Given the description of an element on the screen output the (x, y) to click on. 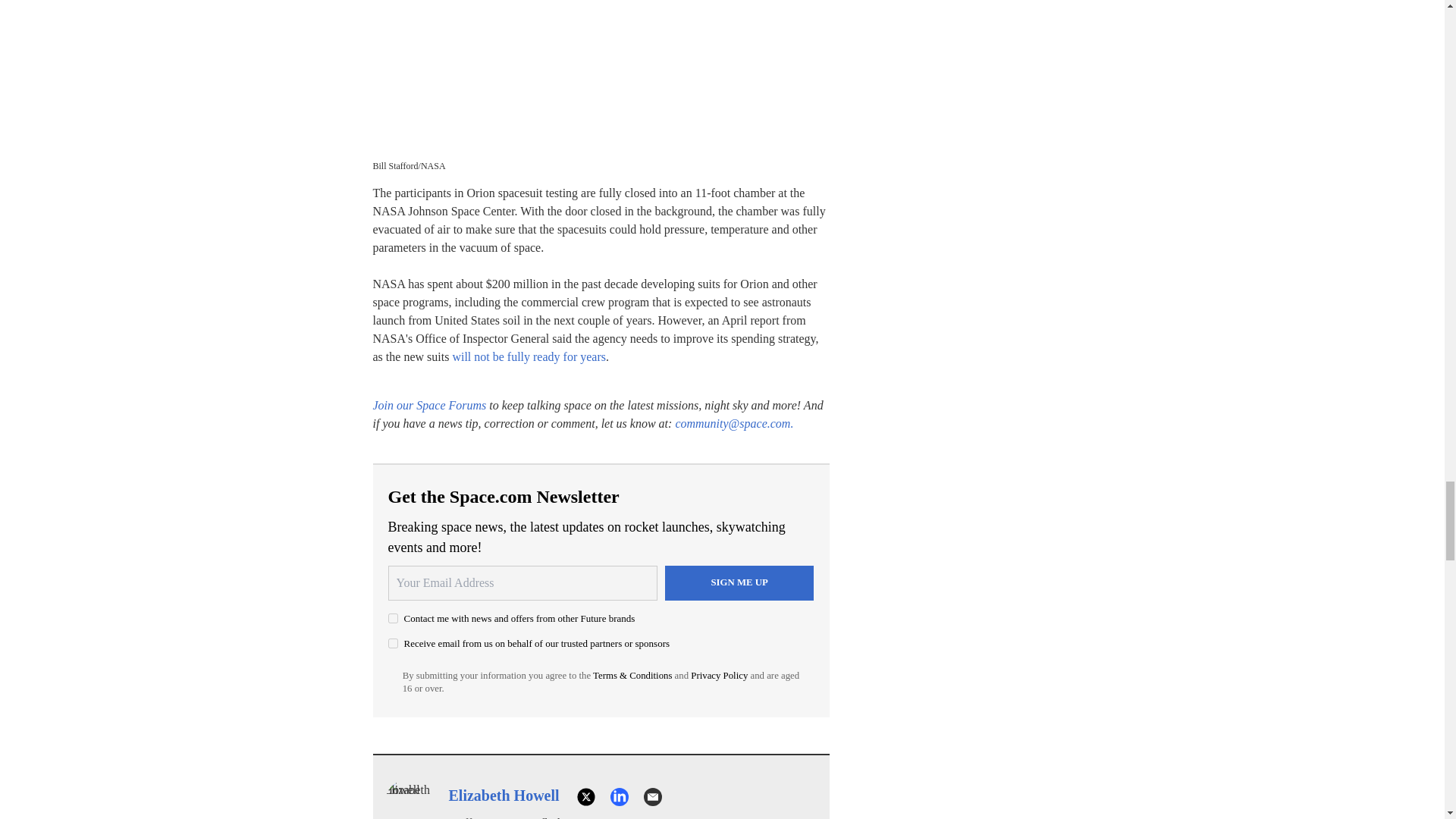
on (392, 643)
on (392, 617)
Sign me up (739, 582)
